Given the description of an element on the screen output the (x, y) to click on. 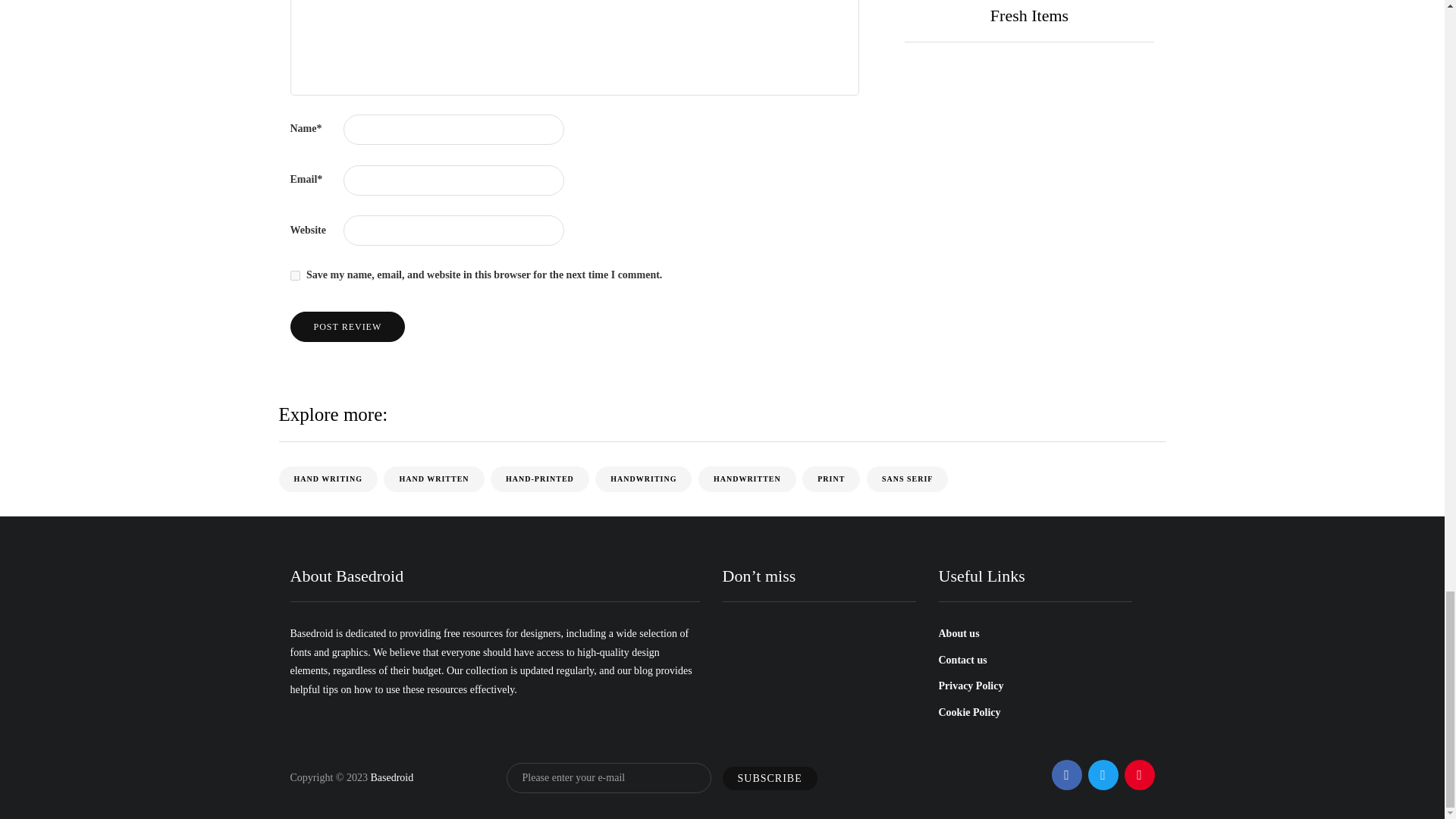
yes (294, 275)
Post review (346, 327)
